Given the description of an element on the screen output the (x, y) to click on. 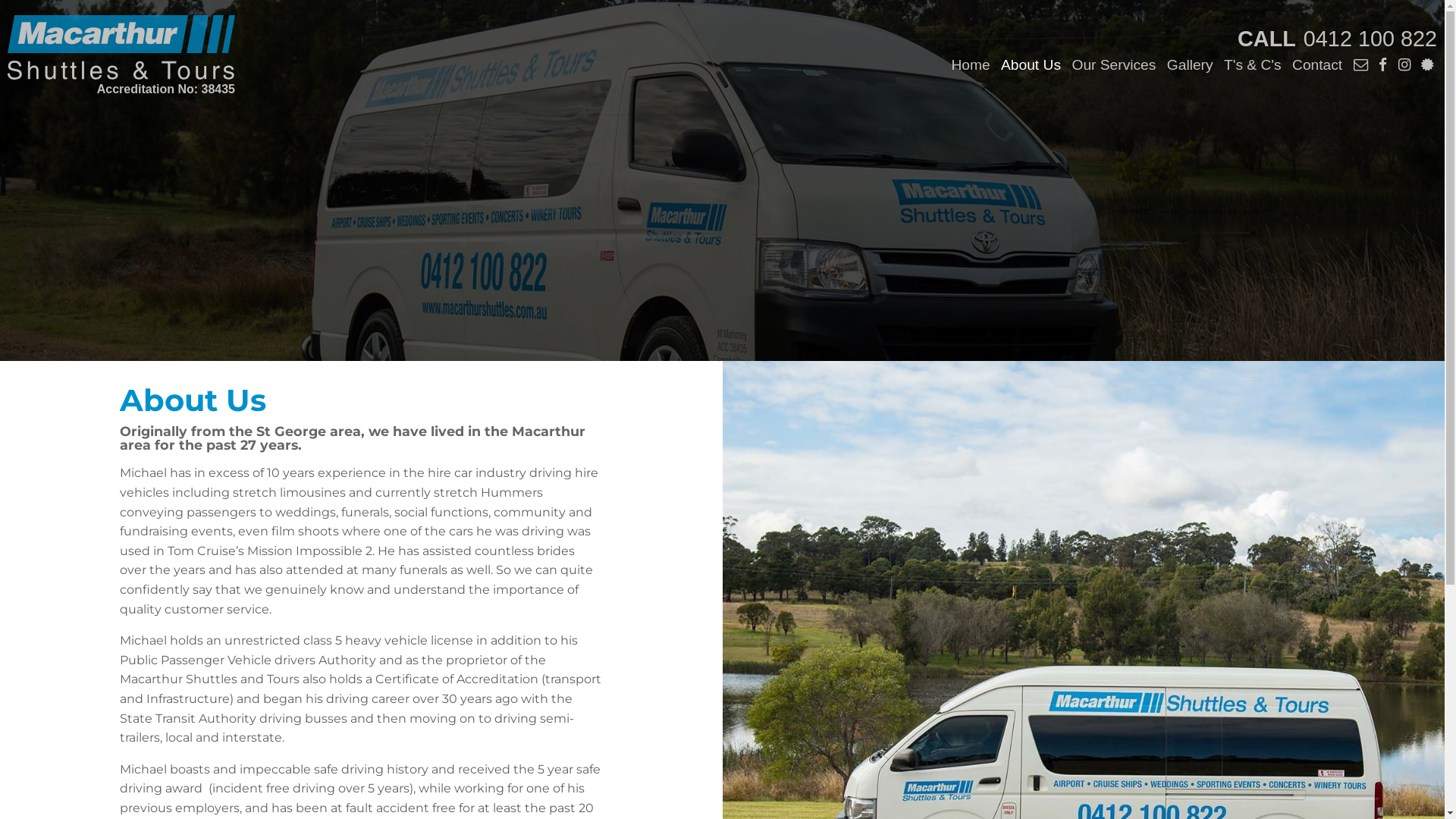
Accreditation No: 38435 Element type: text (121, 57)
Home Element type: text (970, 64)
CALL0412 100 822 Element type: text (1337, 38)
Contact Element type: text (1317, 64)
Gallery Element type: text (1190, 64)
T's & C's Element type: text (1252, 64)
Our Services Element type: text (1113, 64)
About Us Element type: text (1030, 64)
